Given the description of an element on the screen output the (x, y) to click on. 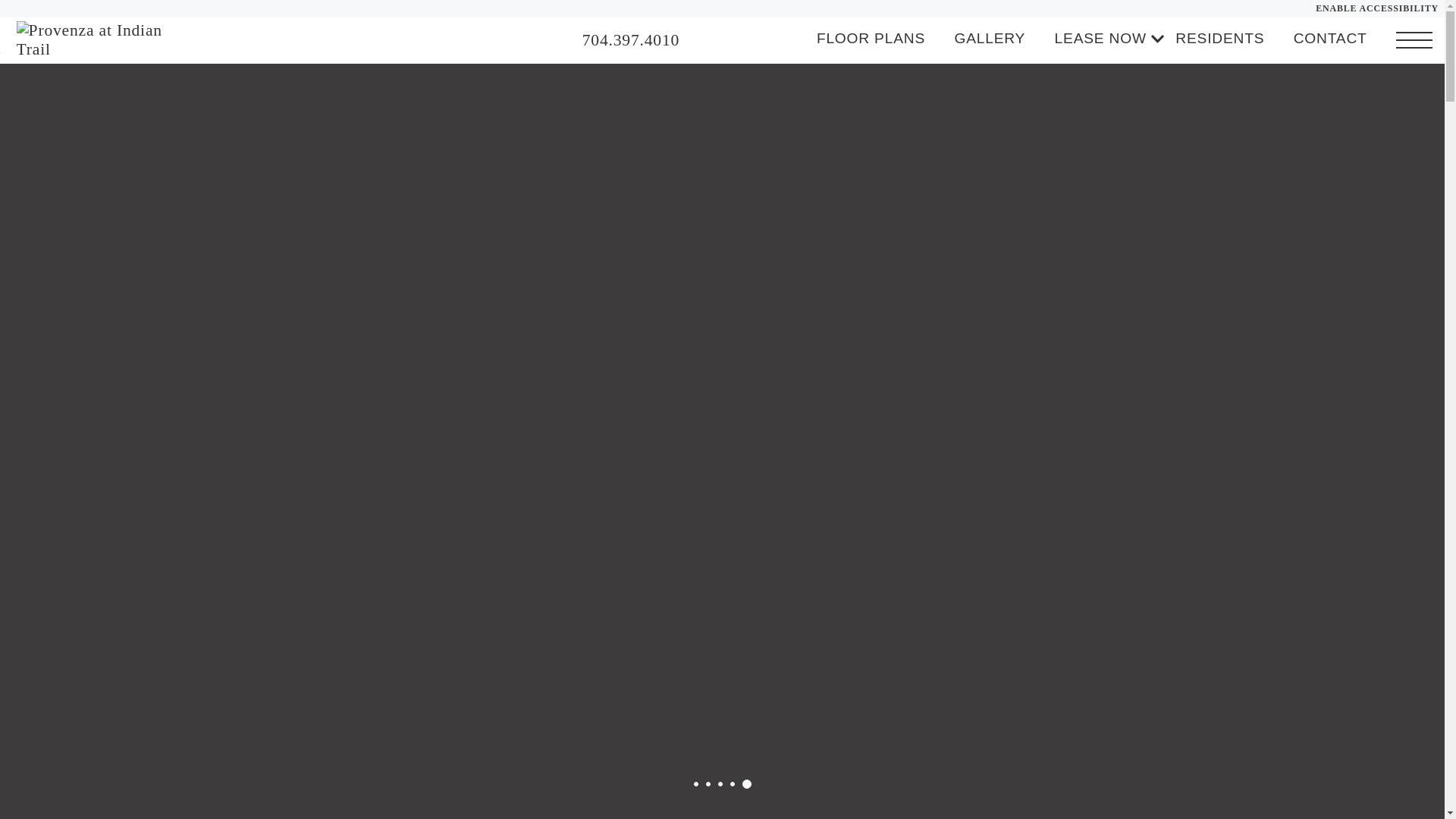
Directions (777, 40)
CONTACT (1330, 38)
RESIDENTS (1218, 38)
LEASE NOW (1100, 38)
FLOOR PLANS (870, 38)
GALLERY (989, 38)
Book a Tour (747, 40)
Chat (717, 40)
Skip to Main Content (49, 52)
ENABLE ACCESSIBILITY (1377, 8)
704.397.4010 (630, 40)
Skip to Footer (49, 53)
